Given the description of an element on the screen output the (x, y) to click on. 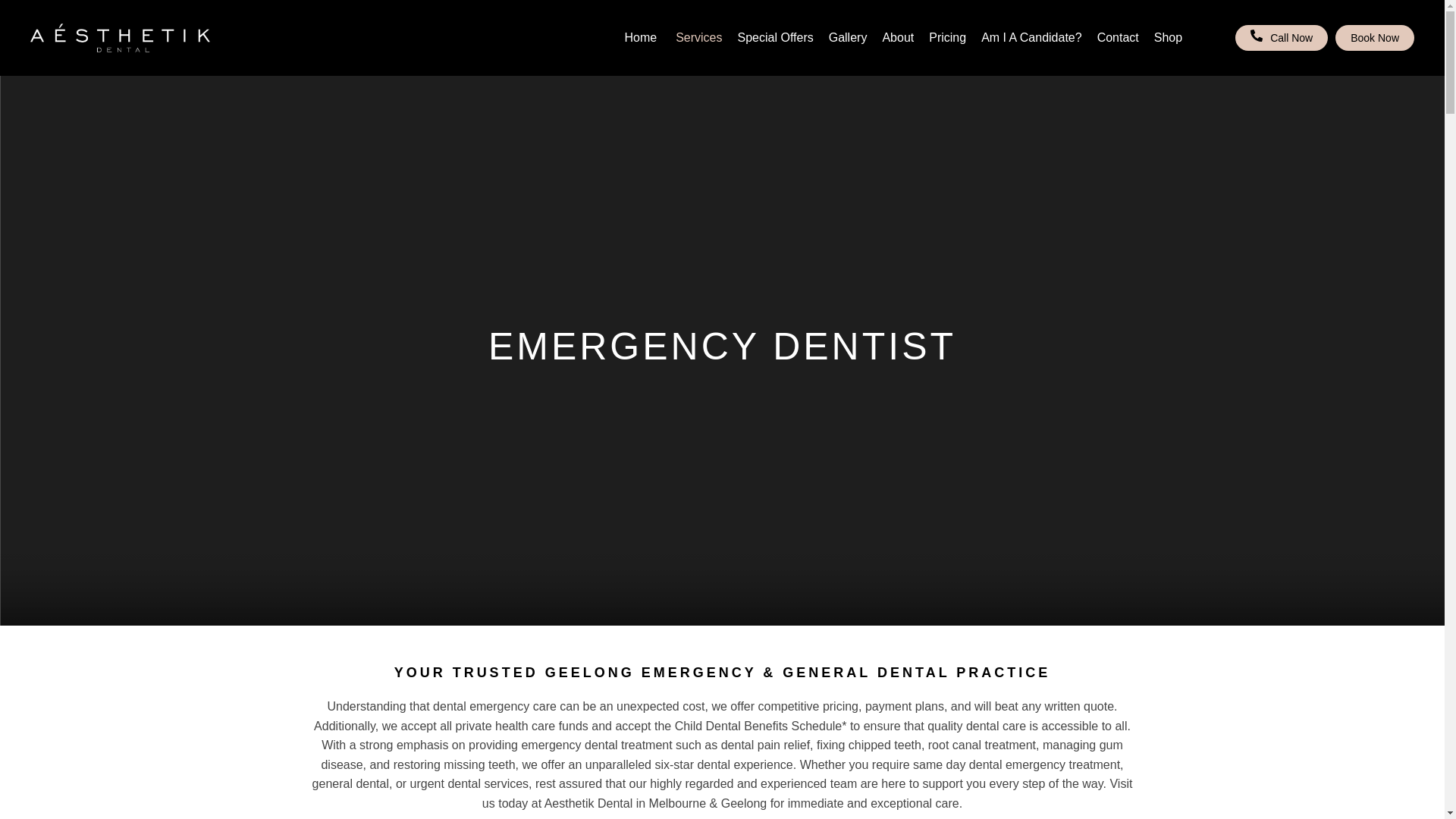
Contact (1117, 37)
Pricing (947, 37)
Am I A Candidate? (1031, 37)
Gallery (847, 37)
Services (698, 37)
About (898, 37)
Home (640, 37)
Special Offers (775, 37)
